Given the description of an element on the screen output the (x, y) to click on. 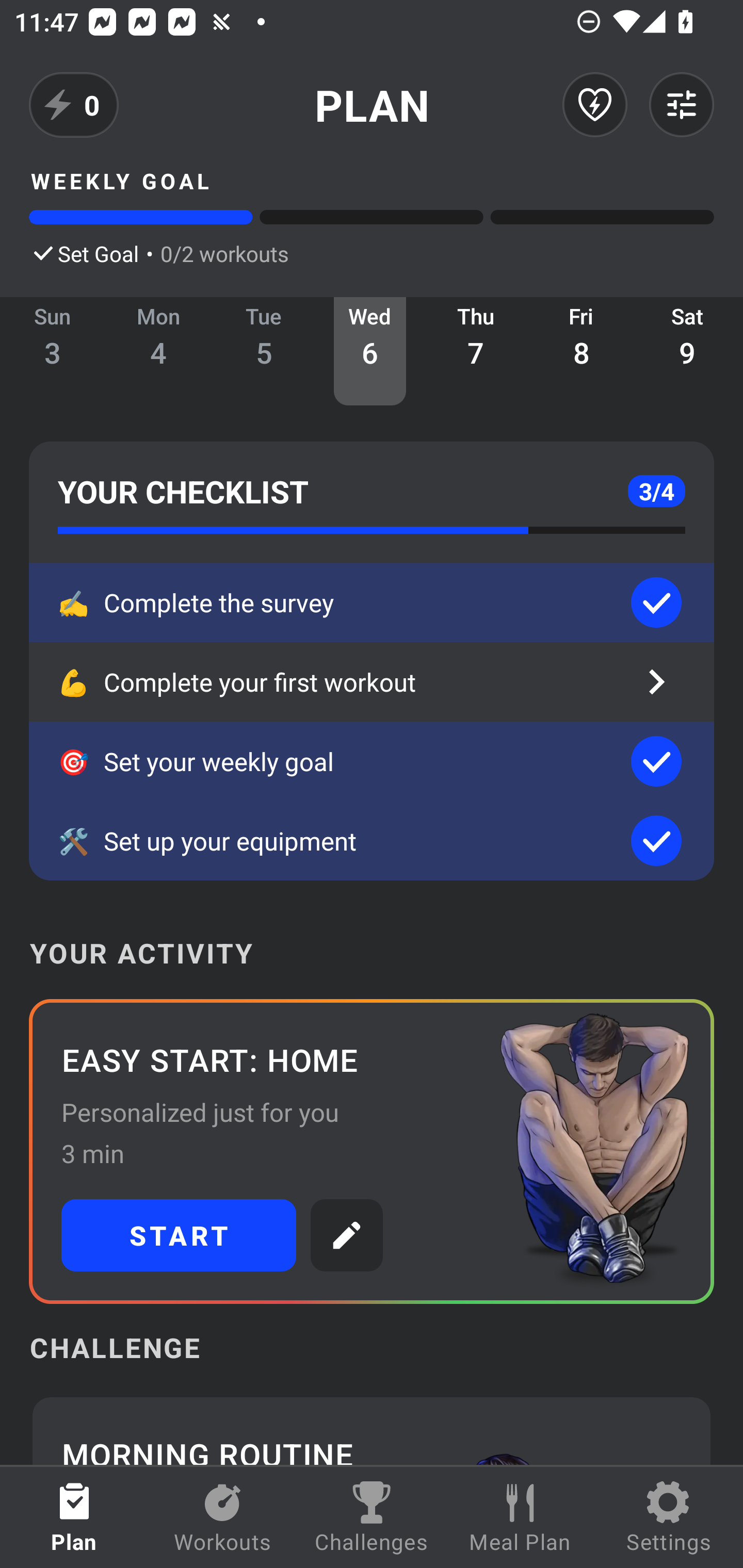
0 (73, 104)
Sun 3 (52, 351)
Mon 4 (158, 351)
Tue 5 (264, 351)
Wed 6 (369, 351)
Thu 7 (475, 351)
Fri 8 (581, 351)
Sat 9 (687, 351)
💪 Complete your first workout (371, 681)
START (178, 1235)
 Workouts  (222, 1517)
 Challenges  (371, 1517)
 Meal Plan  (519, 1517)
 Settings  (668, 1517)
